Given the description of an element on the screen output the (x, y) to click on. 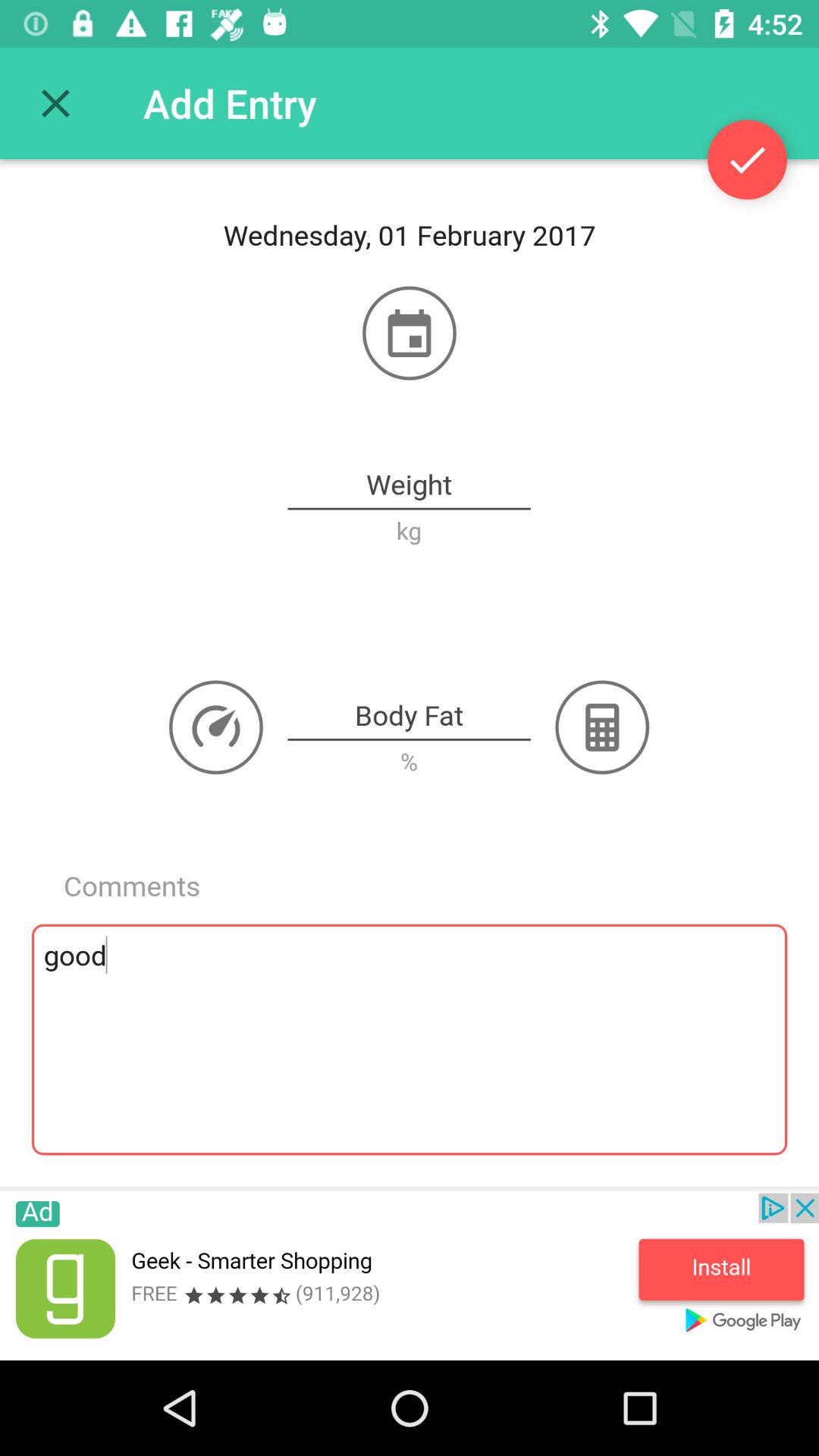
text box (408, 716)
